Given the description of an element on the screen output the (x, y) to click on. 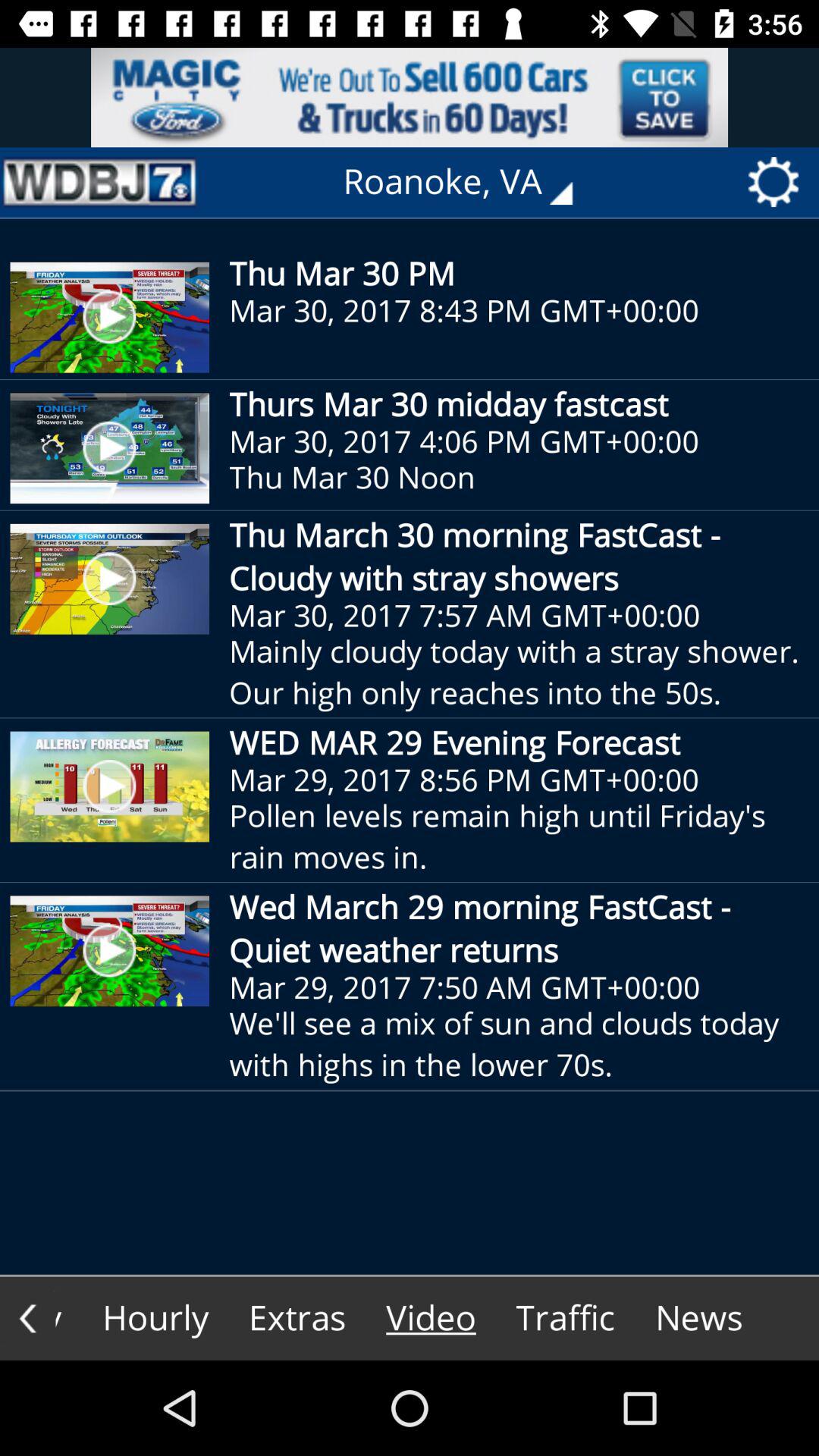
tap icon next to the roanoke, va (99, 182)
